Given the description of an element on the screen output the (x, y) to click on. 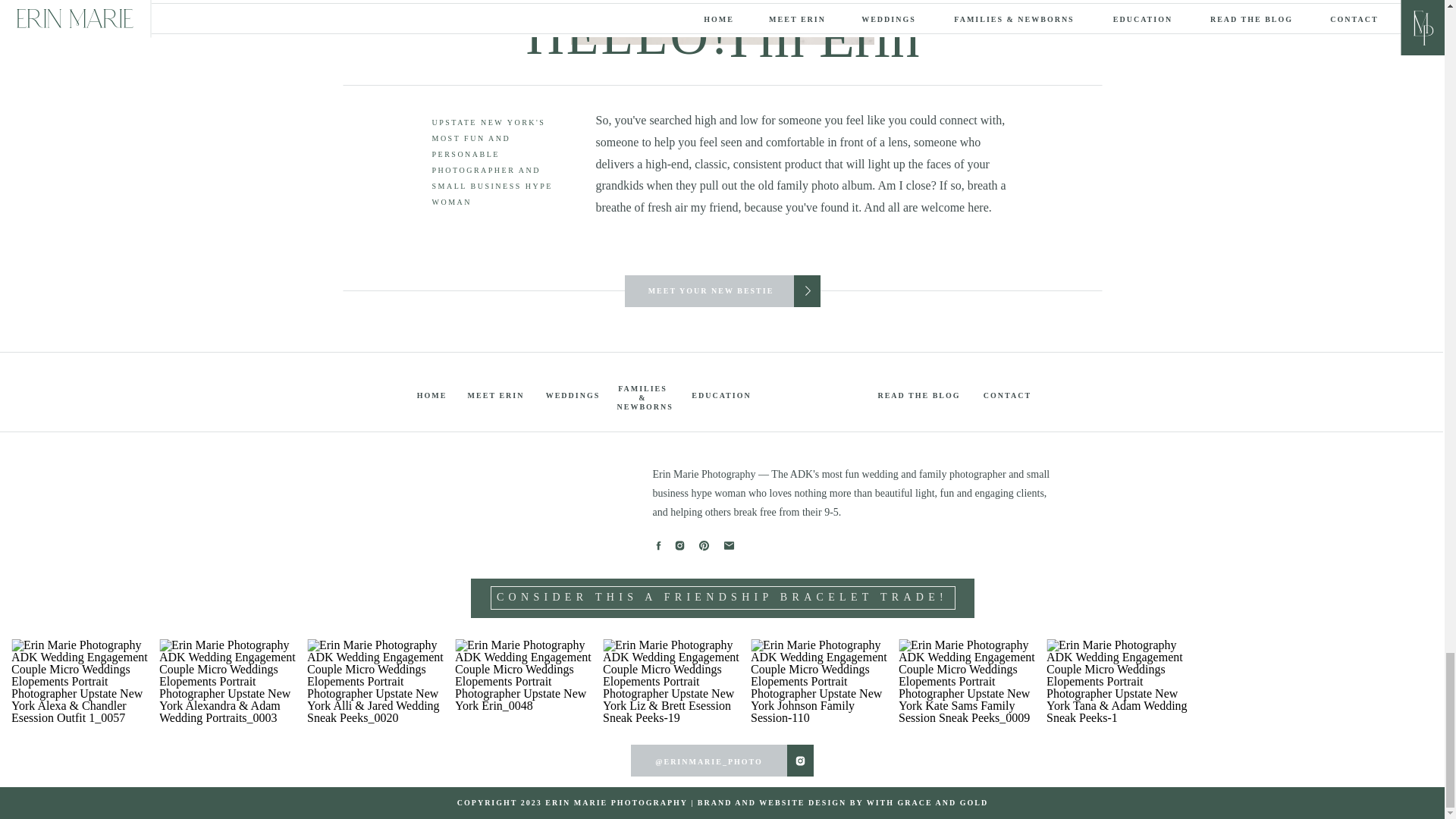
MEET YOUR NEW BESTIE (710, 289)
CONTACT (1006, 394)
